Given the description of an element on the screen output the (x, y) to click on. 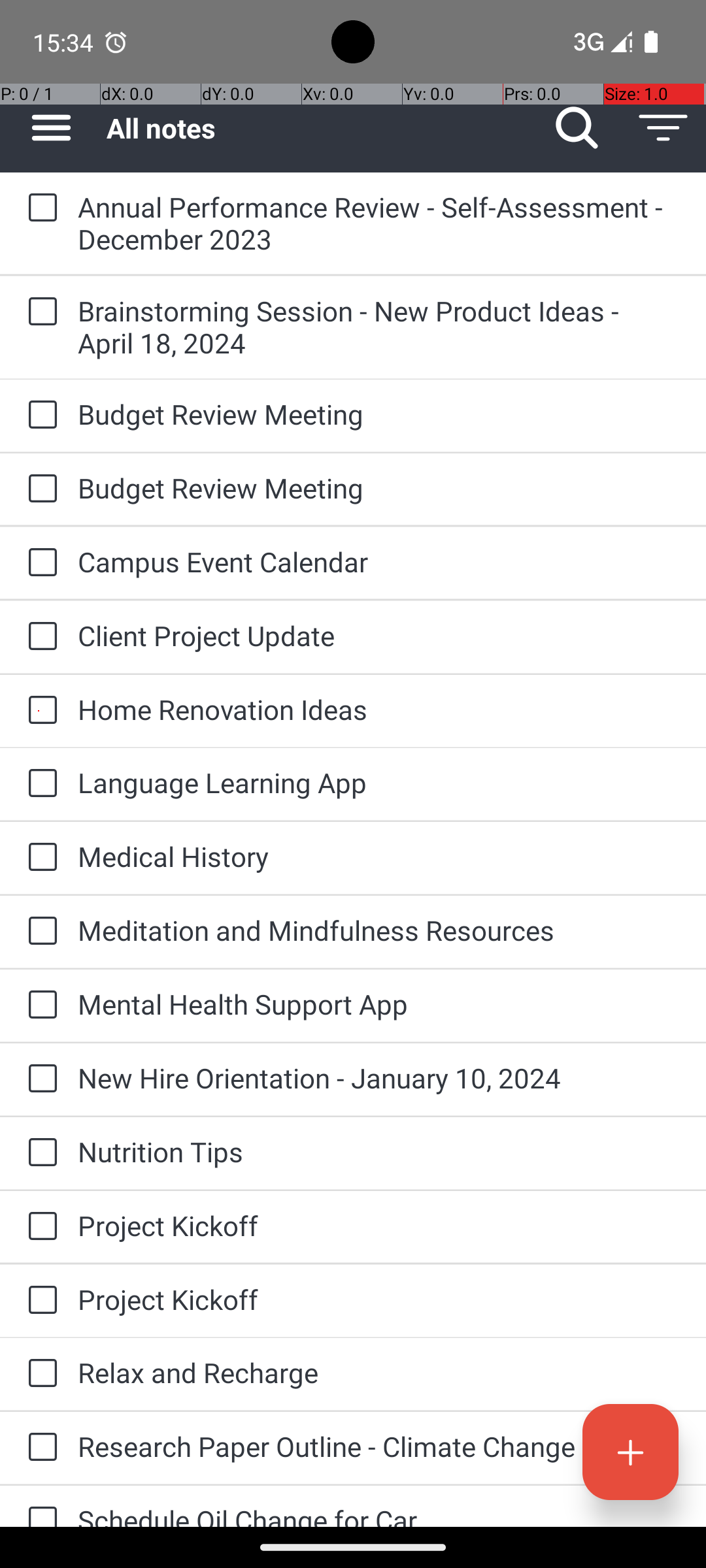
to-do: Brainstorming Session - New Product Ideas - April 18, 2024 Element type: android.widget.CheckBox (38, 312)
Brainstorming Session - New Product Ideas - April 18, 2024 Element type: android.widget.TextView (378, 326)
Campus Event Calendar Element type: android.widget.TextView (378, 561)
to-do: Client Project Update Element type: android.widget.CheckBox (38, 636)
Client Project Update Element type: android.widget.TextView (378, 634)
to-do: Home Renovation Ideas Element type: android.widget.CheckBox (38, 710)
Home Renovation Ideas Element type: android.widget.TextView (378, 708)
to-do: Language Learning App Element type: android.widget.CheckBox (38, 783)
Language Learning App Element type: android.widget.TextView (378, 781)
to-do: Medical History Element type: android.widget.CheckBox (38, 857)
Medical History Element type: android.widget.TextView (378, 855)
to-do: Meditation and Mindfulness Resources Element type: android.widget.CheckBox (38, 931)
to-do: Mental Health Support App Element type: android.widget.CheckBox (38, 1005)
Mental Health Support App Element type: android.widget.TextView (378, 1003)
to-do: Relax and Recharge Element type: android.widget.CheckBox (38, 1374)
Relax and Recharge Element type: android.widget.TextView (378, 1371)
to-do: Schedule Oil Change for Car Element type: android.widget.CheckBox (38, 1505)
Schedule Oil Change for Car Element type: android.widget.TextView (378, 1513)
